Given the description of an element on the screen output the (x, y) to click on. 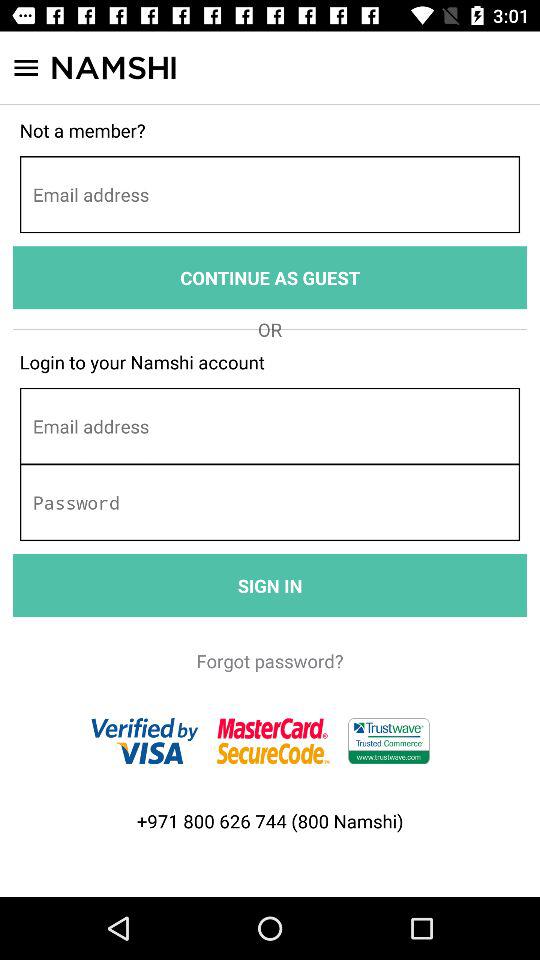
turn on the forgot password? (269, 660)
